Given the description of an element on the screen output the (x, y) to click on. 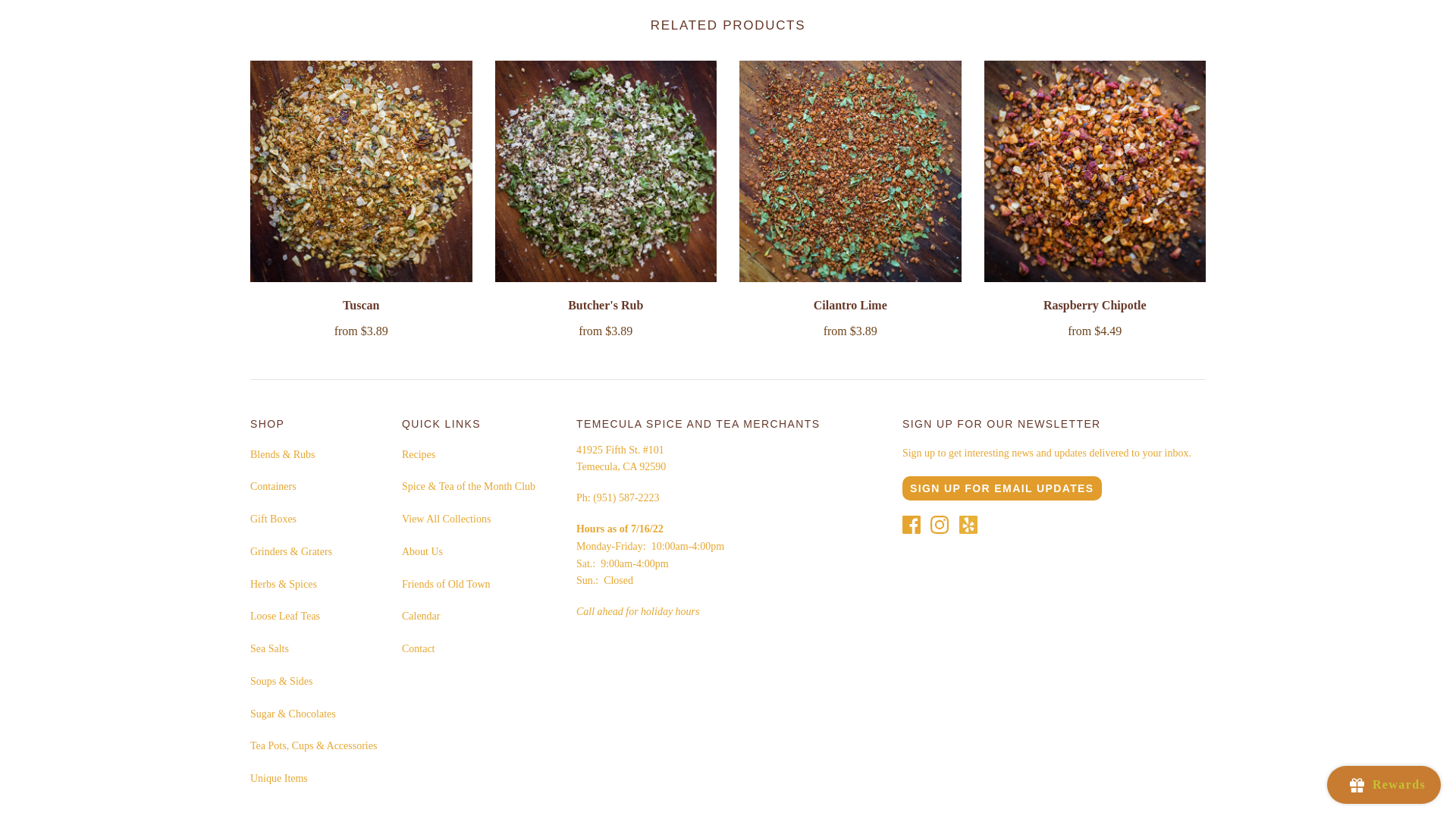
Containers (273, 486)
Facebook (911, 524)
Butcher's Rub (605, 305)
Gift Boxes (273, 518)
Raspberry Chipotle (1095, 305)
Tuscan (360, 305)
Instagram (939, 524)
Cilantro Lime (849, 305)
